Given the description of an element on the screen output the (x, y) to click on. 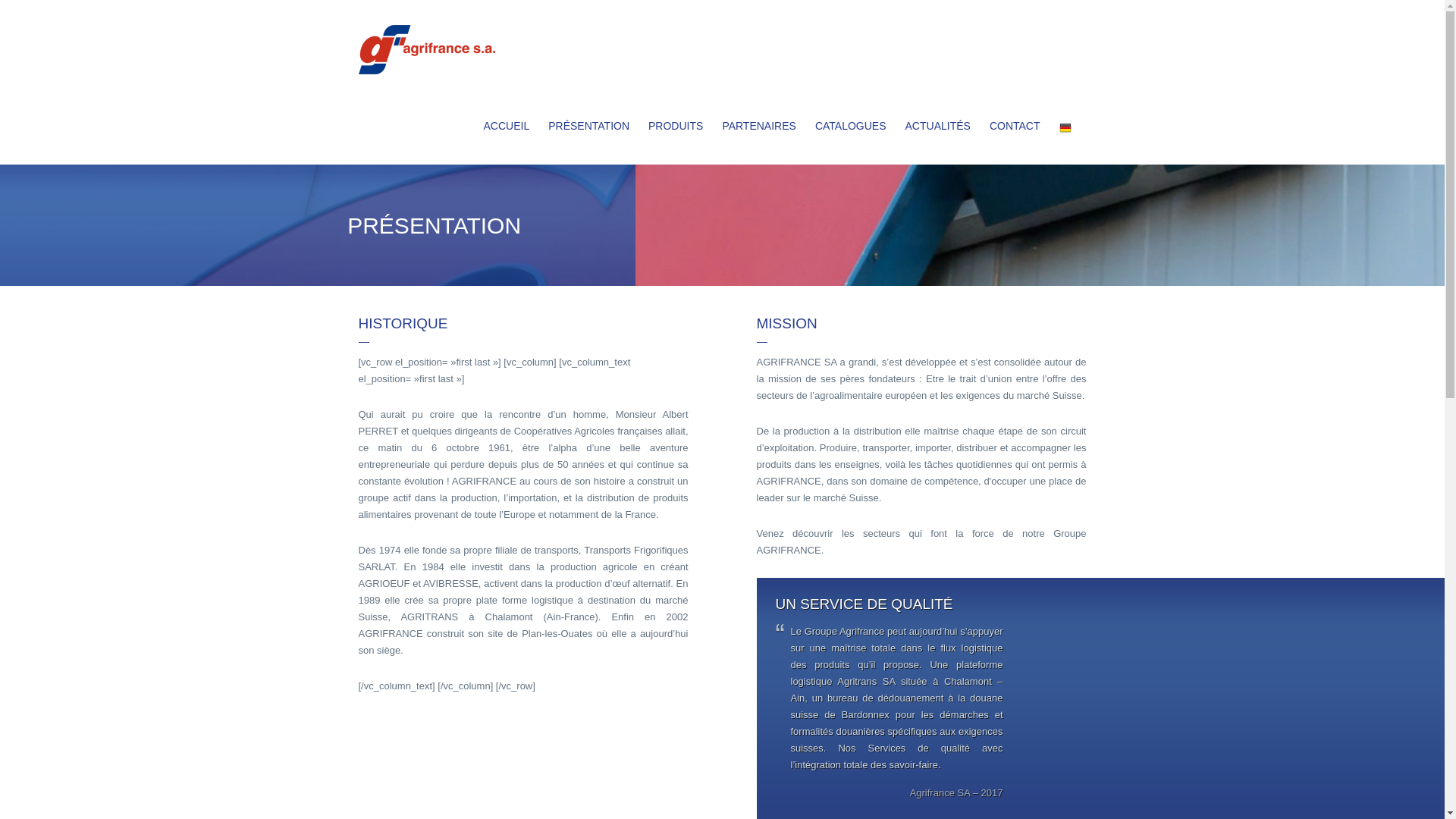
PRODUITS Element type: text (675, 125)
CONTACT Element type: text (1014, 125)
ACCUEIL Element type: text (506, 125)
CATALOGUES Element type: text (850, 125)
Agrifrance SA Element type: hover (425, 49)
PARTENAIRES Element type: text (758, 125)
